Given the description of an element on the screen output the (x, y) to click on. 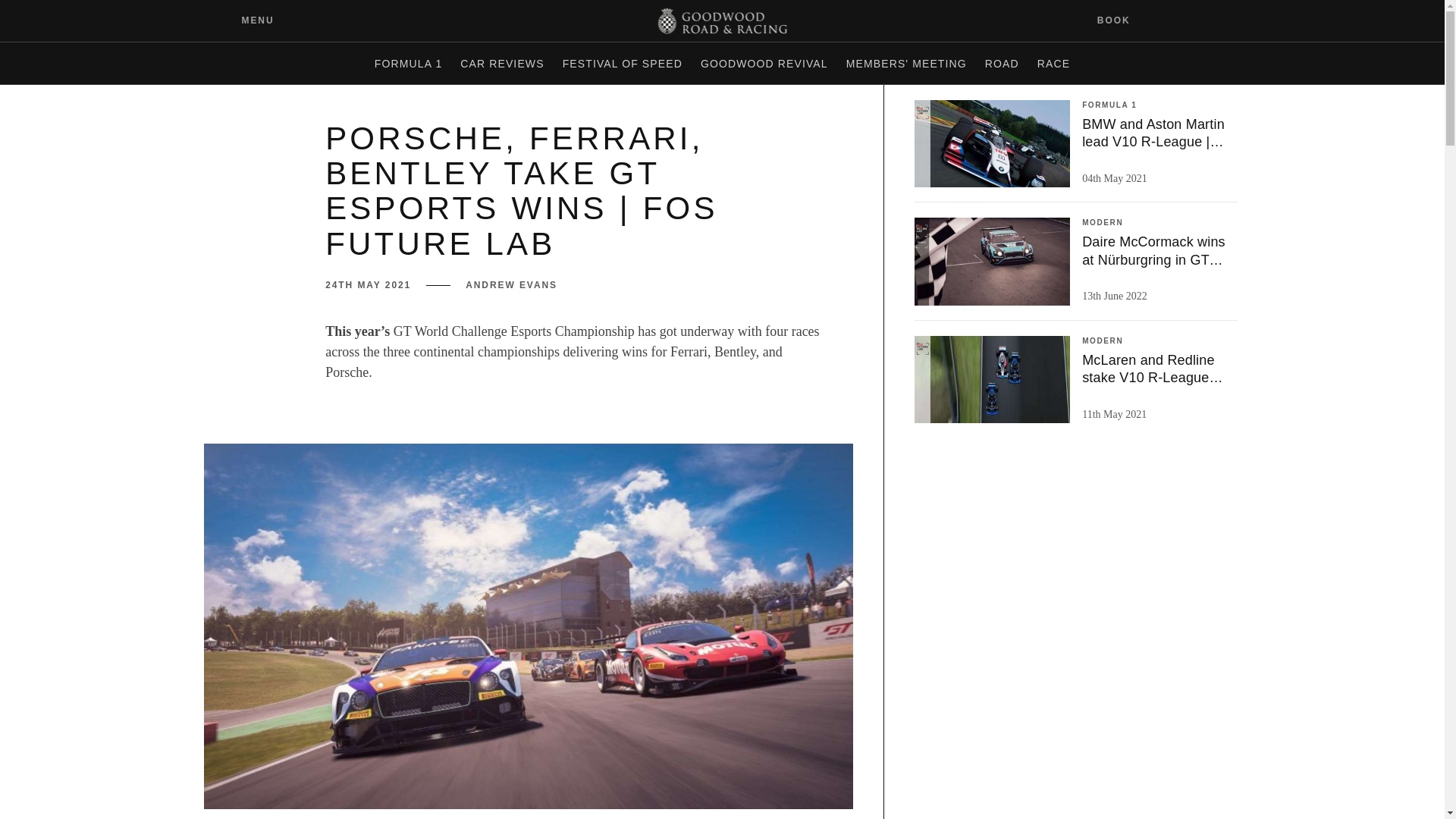
FESTIVAL OF SPEED (622, 63)
ROAD (1001, 63)
FORMULA 1 (408, 63)
RACE (1053, 63)
GOODWOOD REVIVAL (764, 63)
MENU (246, 20)
BOOK (1122, 20)
CAR REVIEWS (502, 63)
MEMBERS' MEETING (906, 63)
